Given the description of an element on the screen output the (x, y) to click on. 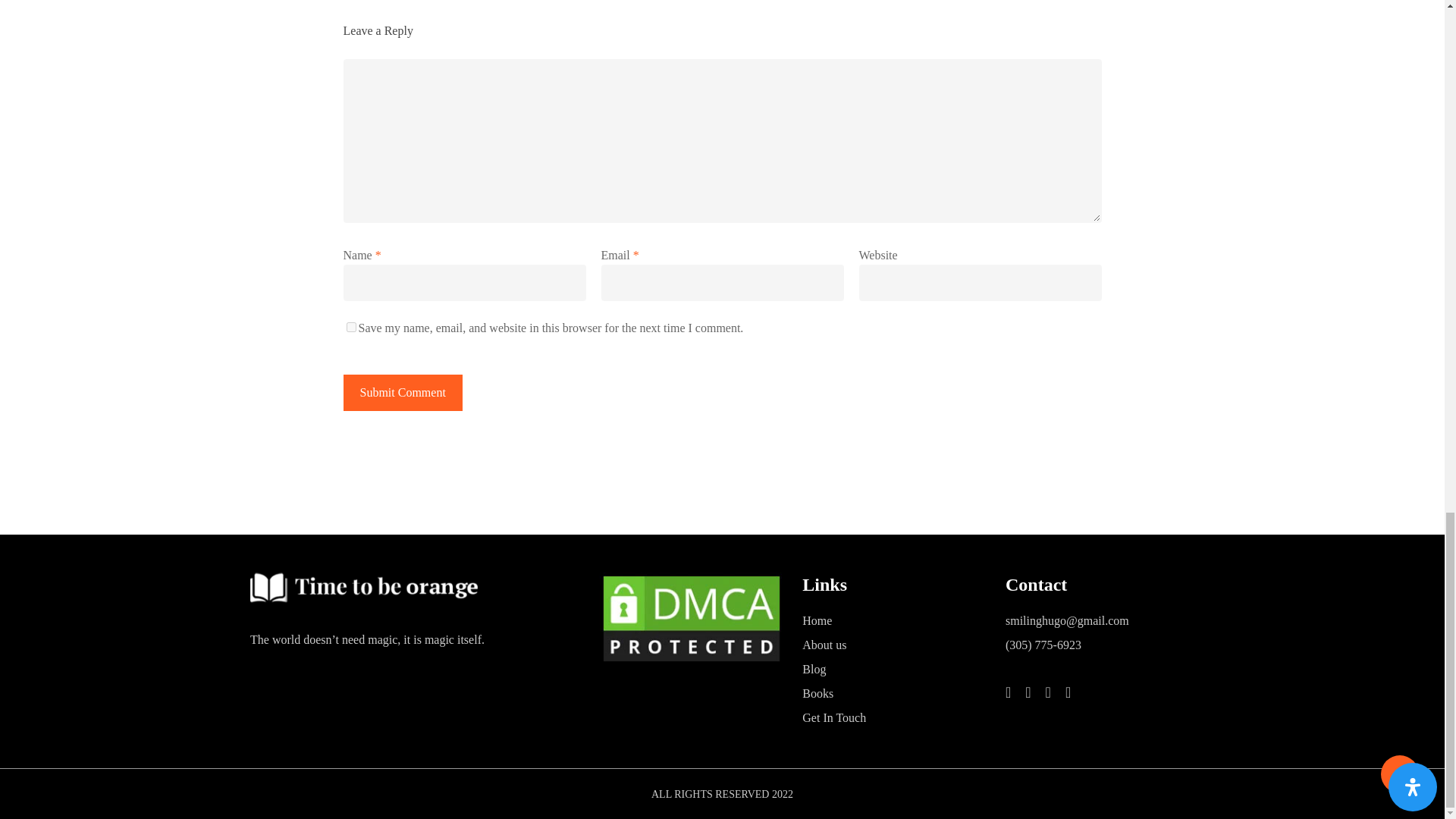
Get In Touch (894, 718)
Home (894, 620)
Books (894, 693)
Submit Comment (401, 392)
About us (894, 645)
Submit Comment (401, 392)
Blog (894, 669)
yes (350, 327)
